Given the description of an element on the screen output the (x, y) to click on. 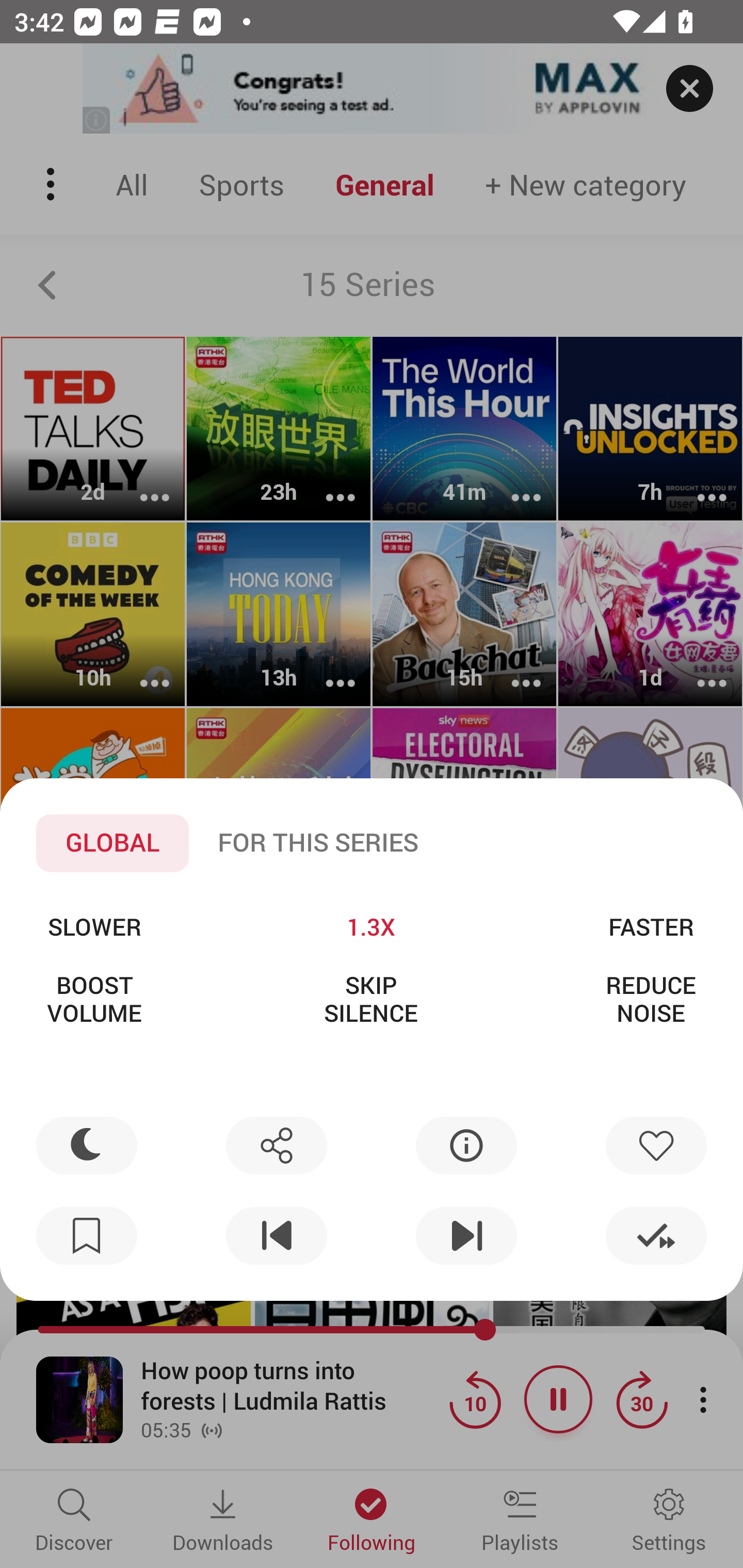
GLOBAL (112, 842)
FOR THIS SERIES (317, 842)
SLOWER (94, 926)
1.3X (370, 926)
FASTER (650, 926)
BOOST
VOLUME (94, 998)
SKIP
SILENCE (370, 998)
REDUCE
NOISE (650, 998)
Sleep timer (86, 1145)
Share (275, 1145)
Info (466, 1145)
Like (655, 1145)
New bookmark … (86, 1236)
Previous (275, 1236)
Next (466, 1236)
Mark played and next (655, 1236)
